Given the description of an element on the screen output the (x, y) to click on. 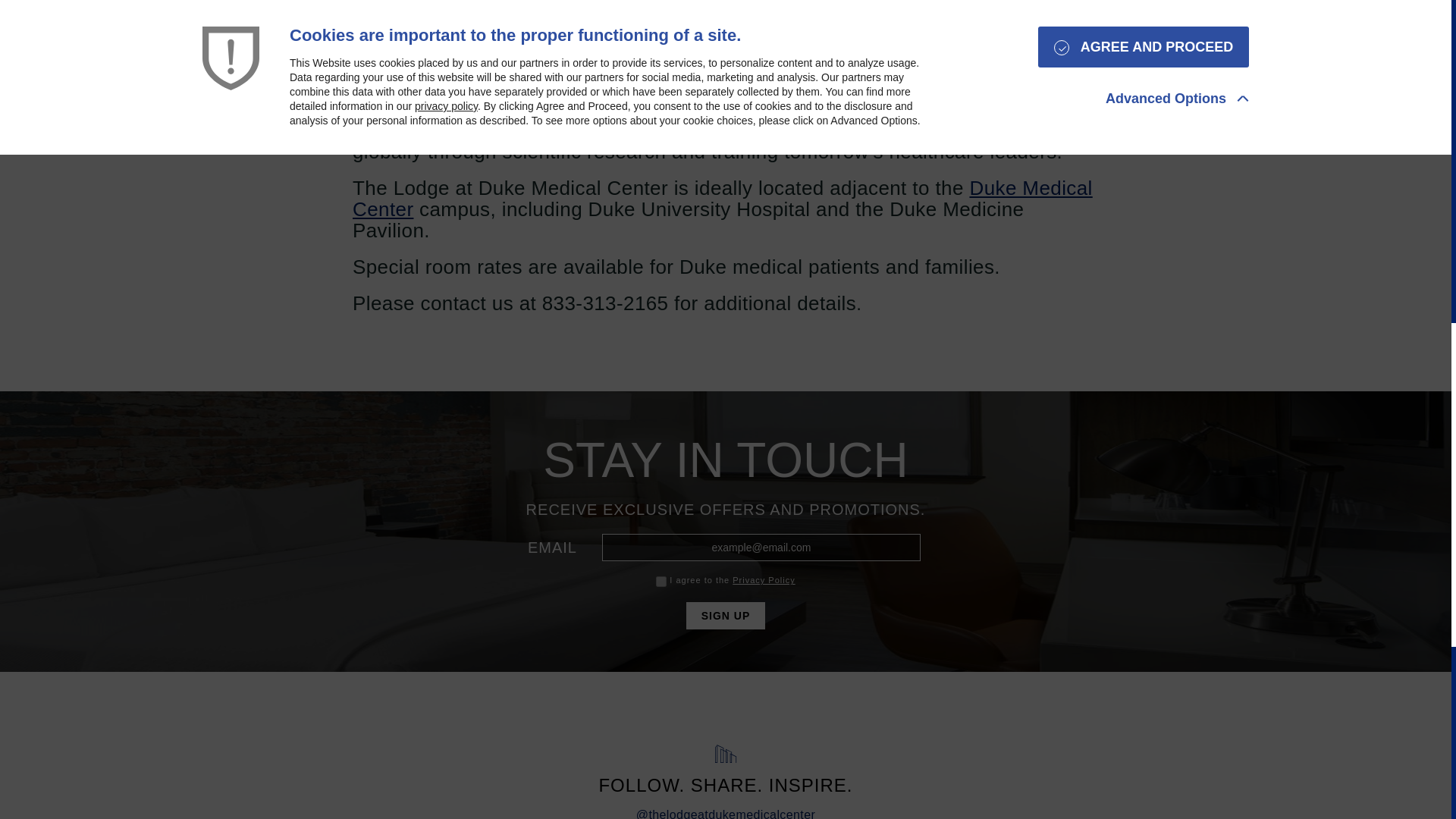
New Fieldset... (725, 564)
Sign Up (725, 615)
true (661, 581)
Email (761, 547)
